Given the description of an element on the screen output the (x, y) to click on. 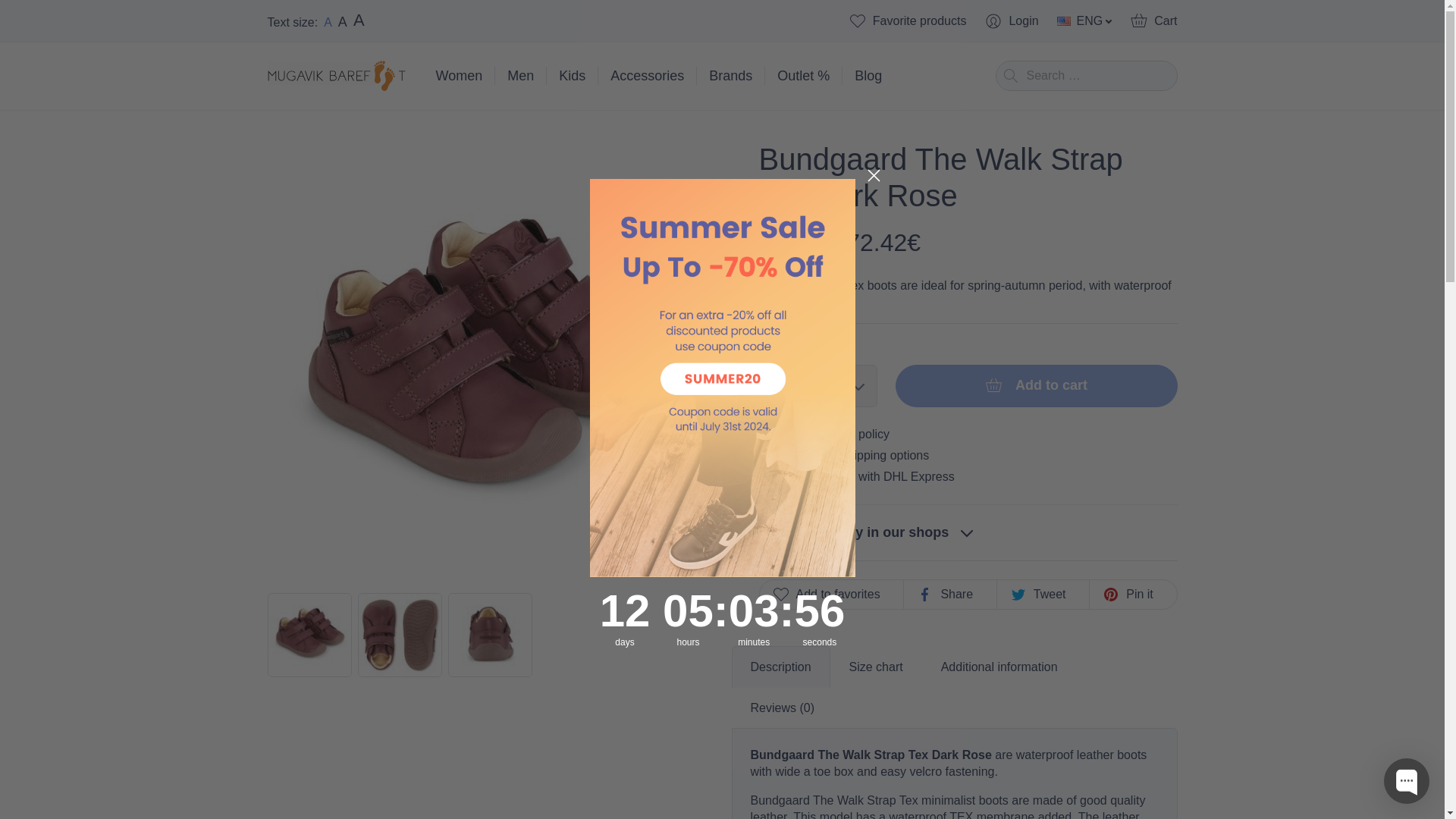
Women (459, 75)
Cart (1152, 21)
Kids (571, 75)
Men (520, 75)
Close dialog 1 (873, 175)
Accessories (646, 75)
Brands (730, 75)
Favorite products (907, 21)
ENG (1084, 21)
Login (1011, 21)
